Given the description of an element on the screen output the (x, y) to click on. 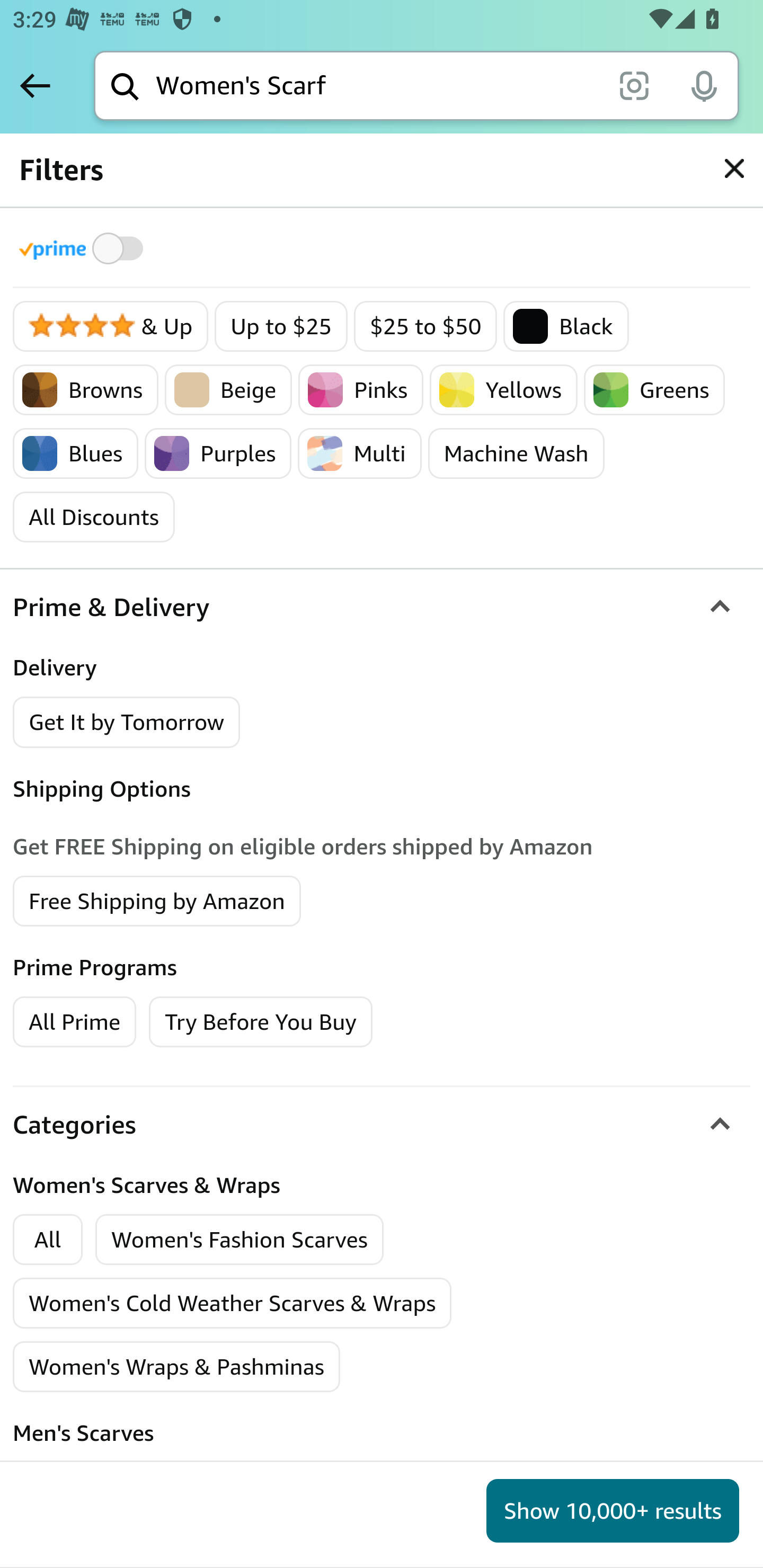
Back (35, 85)
scan it (633, 85)
Toggle to filter by Prime products Prime Eligible (83, 247)
4 Stars & Up (110, 326)
Up to $25 (280, 326)
$25 to $50 (424, 326)
Black Black Black Black (565, 326)
Browns Browns Browns Browns (85, 390)
Beige Beige Beige Beige (228, 390)
Pinks Pinks Pinks Pinks (360, 390)
Yellows Yellows Yellows Yellows (503, 390)
Greens Greens Greens Greens (654, 390)
Blues Blues Blues Blues (75, 453)
Purples Purples Purples Purples (218, 453)
Multi Multi Multi Multi (359, 453)
Machine Wash (516, 453)
All Discounts (93, 517)
Prime & Delivery (381, 607)
Get It by Tomorrow (126, 721)
Free Shipping by Amazon (157, 899)
All Prime (74, 1020)
Try Before You Buy (260, 1020)
Categories (381, 1124)
All (47, 1239)
Women's Fashion Scarves (239, 1239)
Women's Cold Weather Scarves & Wraps (232, 1303)
Women's Wraps & Pashminas (176, 1366)
Show 10,000+ results (612, 1510)
